Given the description of an element on the screen output the (x, y) to click on. 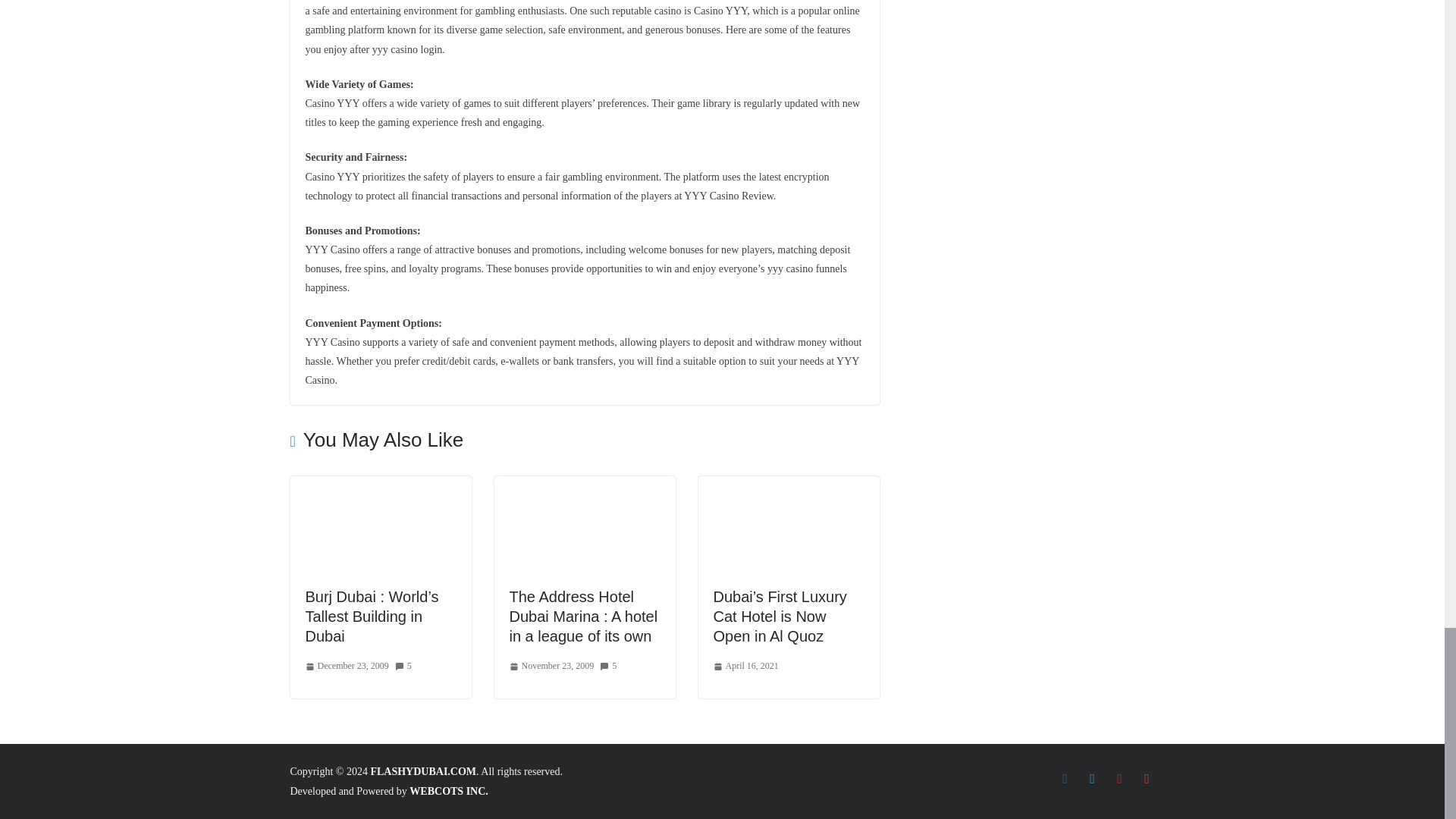
5:26 am (745, 666)
December 23, 2009 (346, 666)
7:16 am (346, 666)
6:17 am (551, 666)
